Given the description of an element on the screen output the (x, y) to click on. 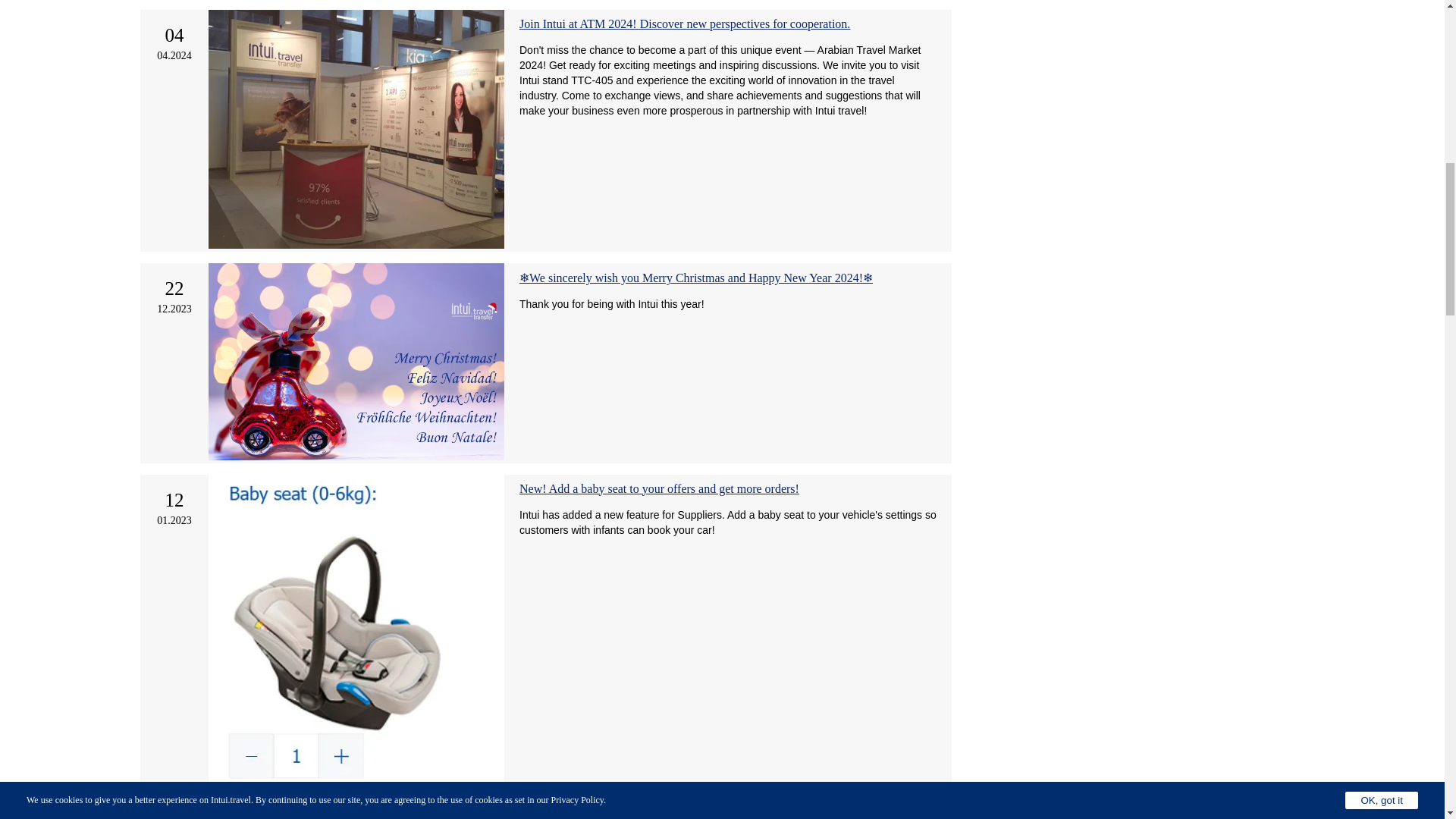
New! Add a baby seat to your offers and get more orders! (659, 488)
New! Add a baby seat to your offers and get more orders! (659, 488)
